Given the description of an element on the screen output the (x, y) to click on. 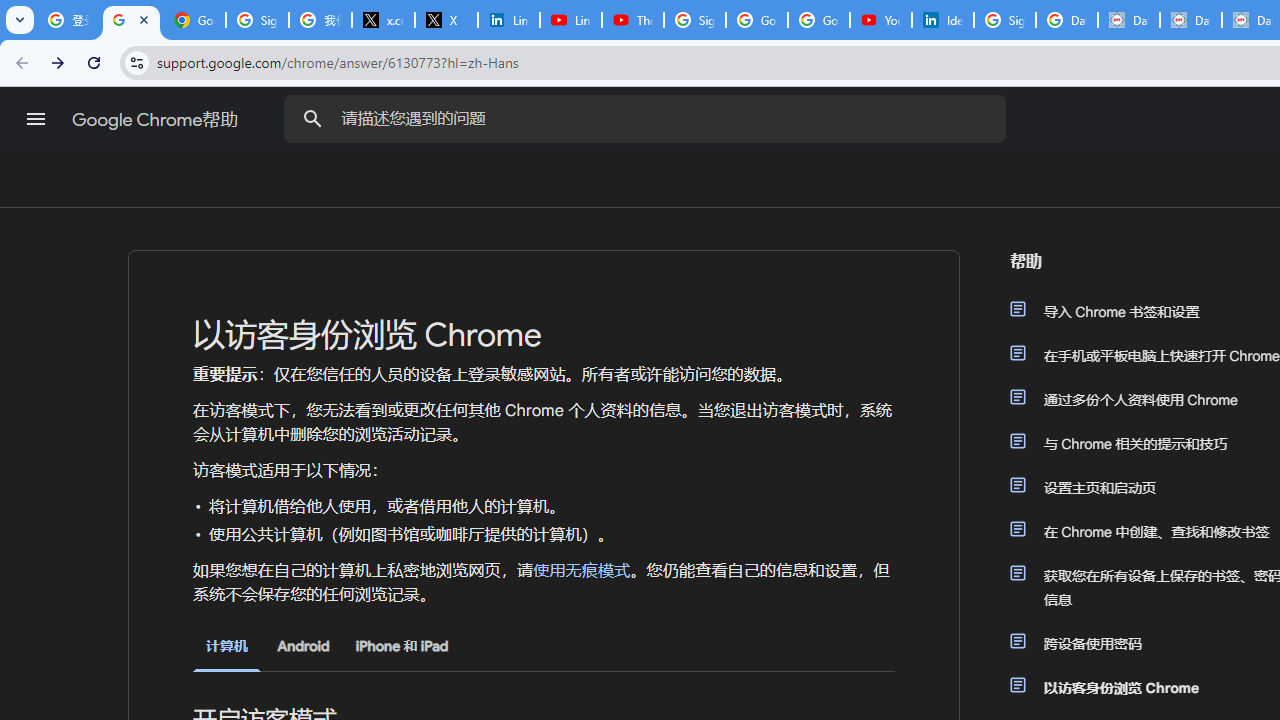
LinkedIn - YouTube (570, 20)
LinkedIn Privacy Policy (508, 20)
X (445, 20)
Android (303, 646)
